Given the description of an element on the screen output the (x, y) to click on. 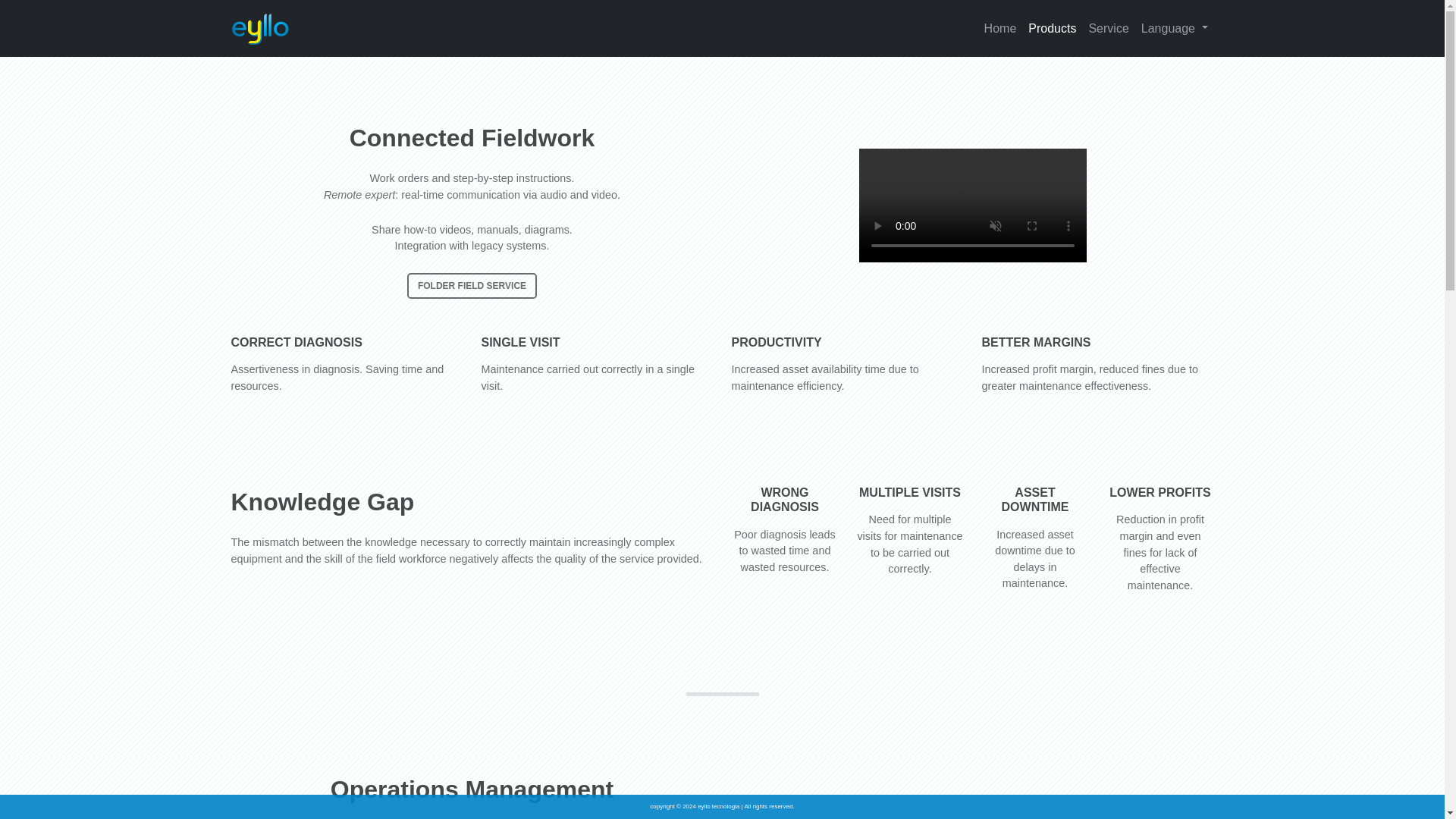
Home (1000, 28)
FOLDER FIELD SERVICE (472, 285)
Service (1107, 28)
Language (1174, 28)
